Given the description of an element on the screen output the (x, y) to click on. 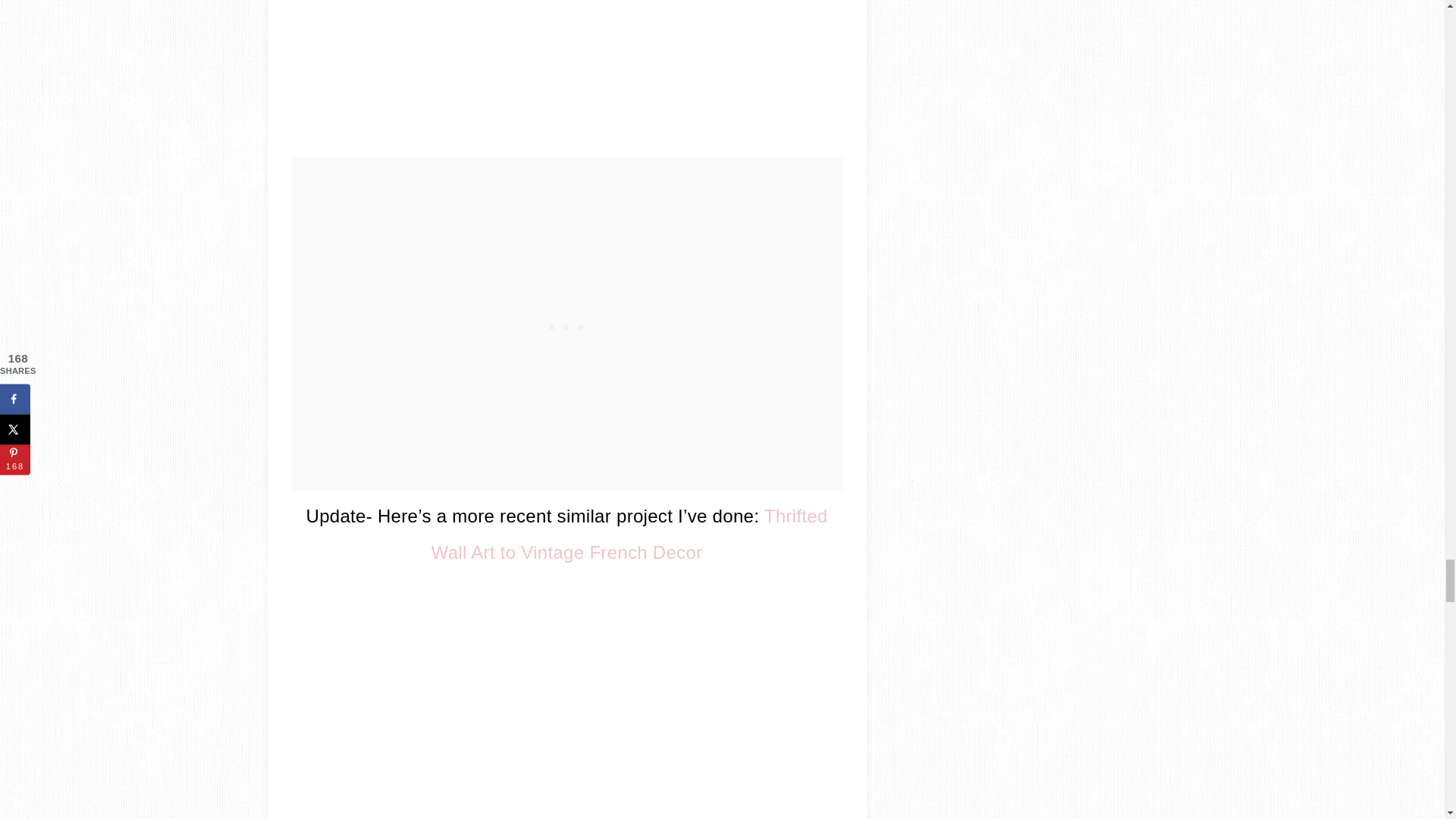
Thrifted Wall Art to Vintage French Decor (629, 534)
